Given the description of an element on the screen output the (x, y) to click on. 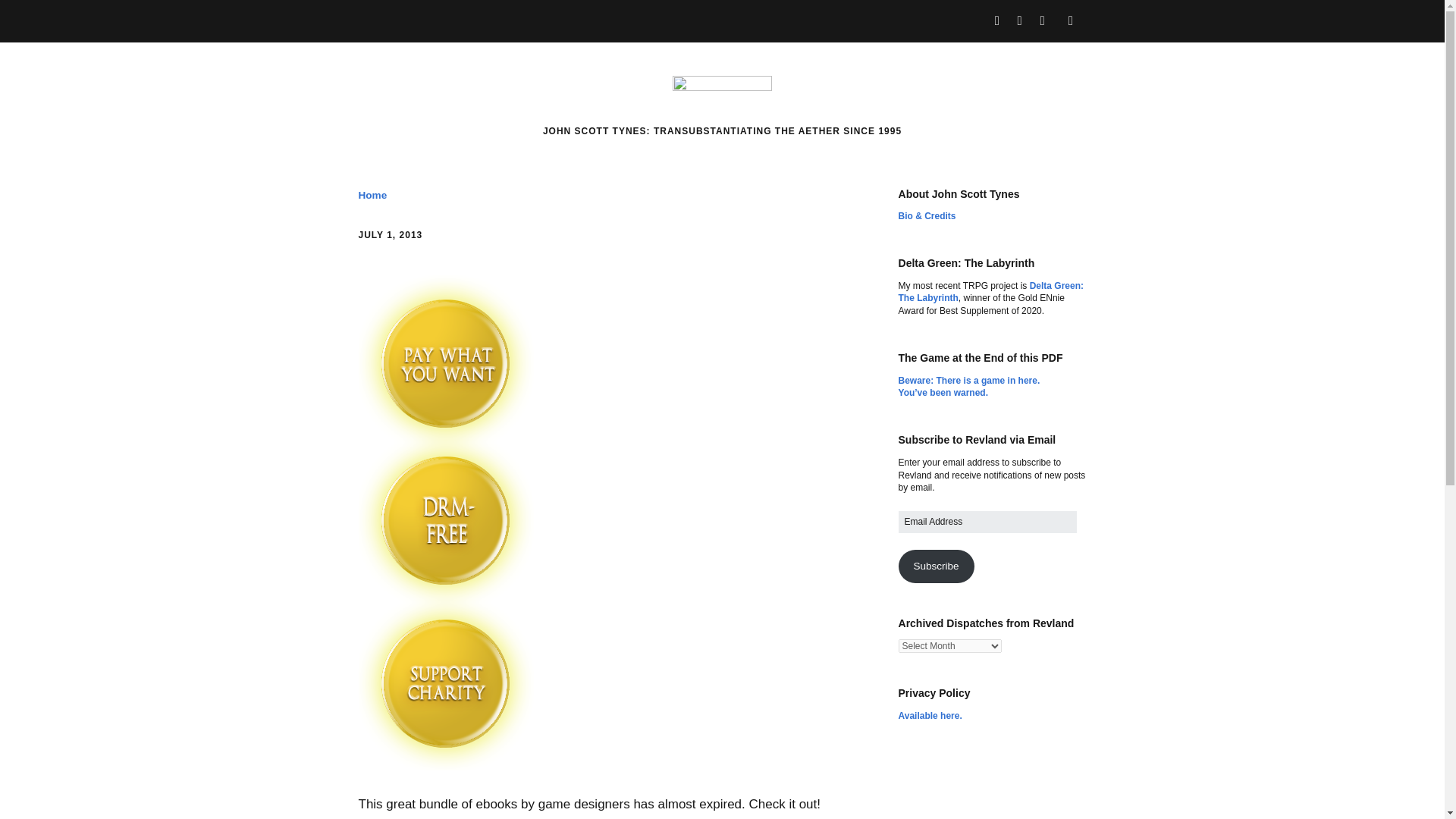
Available here. (930, 715)
Home (372, 194)
Subscribe (936, 566)
Delta Green: The Labyrinth (991, 291)
